Given the description of an element on the screen output the (x, y) to click on. 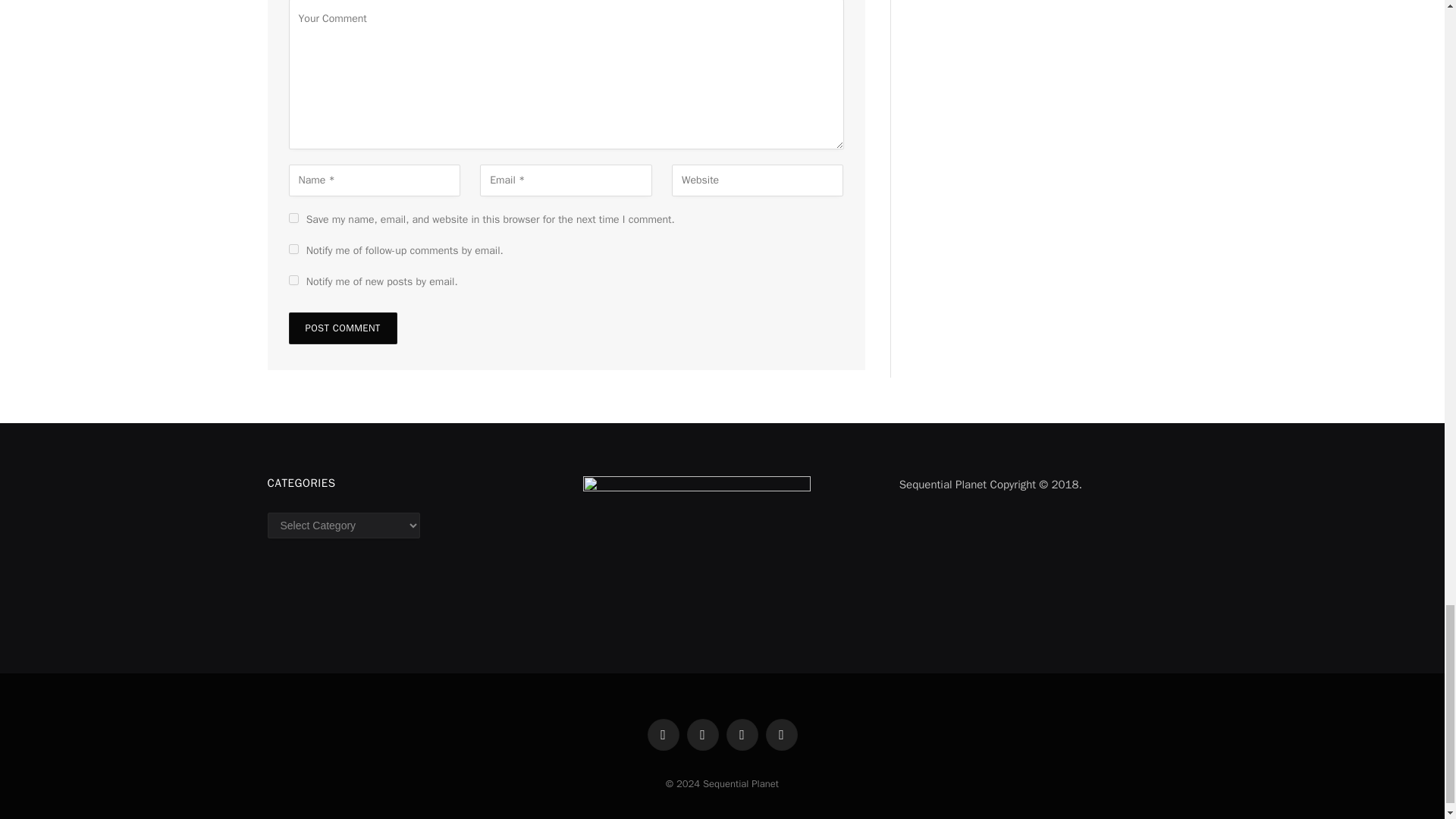
subscribe (293, 248)
subscribe (293, 280)
yes (293, 217)
Post Comment (342, 327)
